Given the description of an element on the screen output the (x, y) to click on. 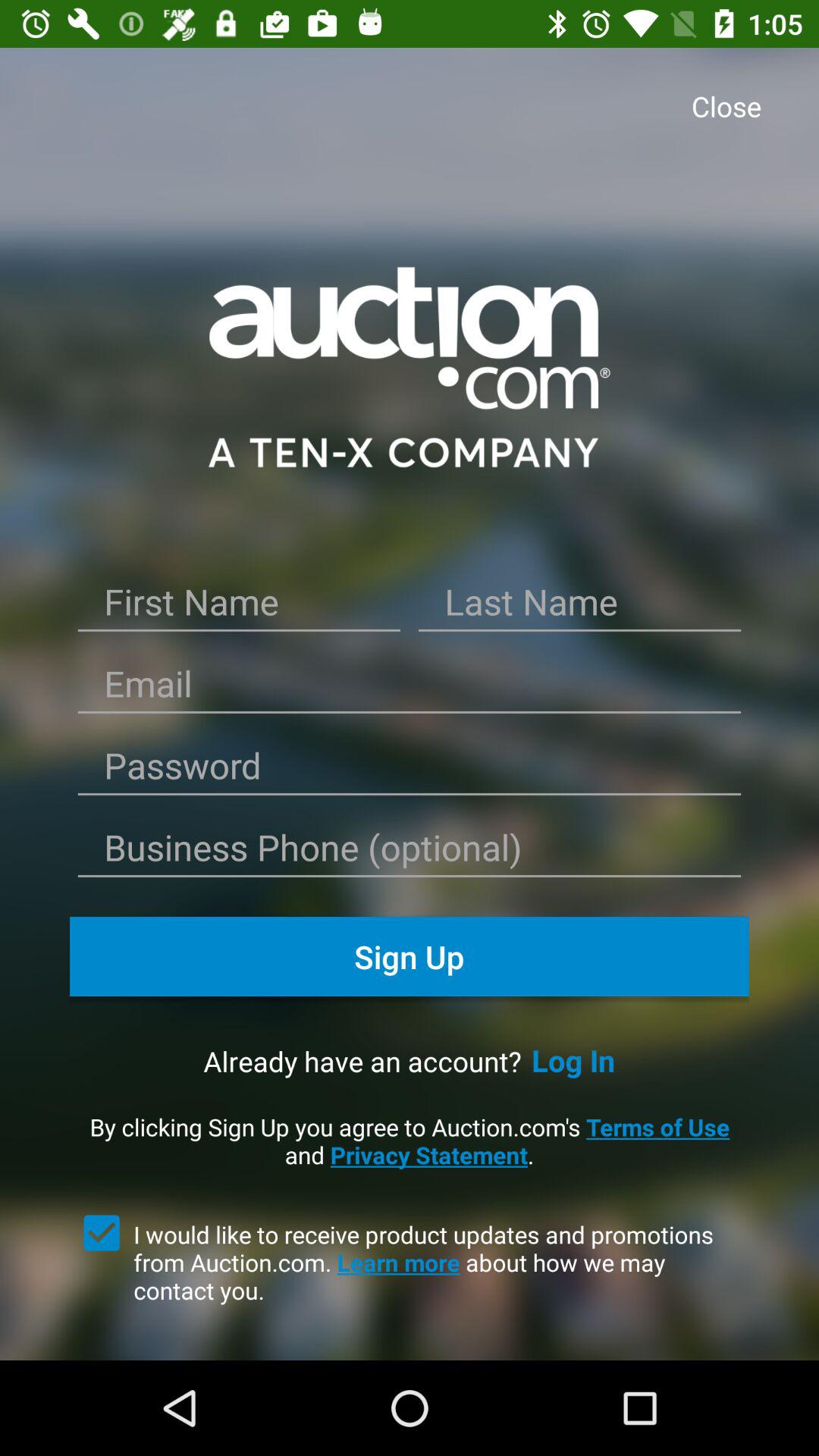
choose close icon (731, 107)
